Given the description of an element on the screen output the (x, y) to click on. 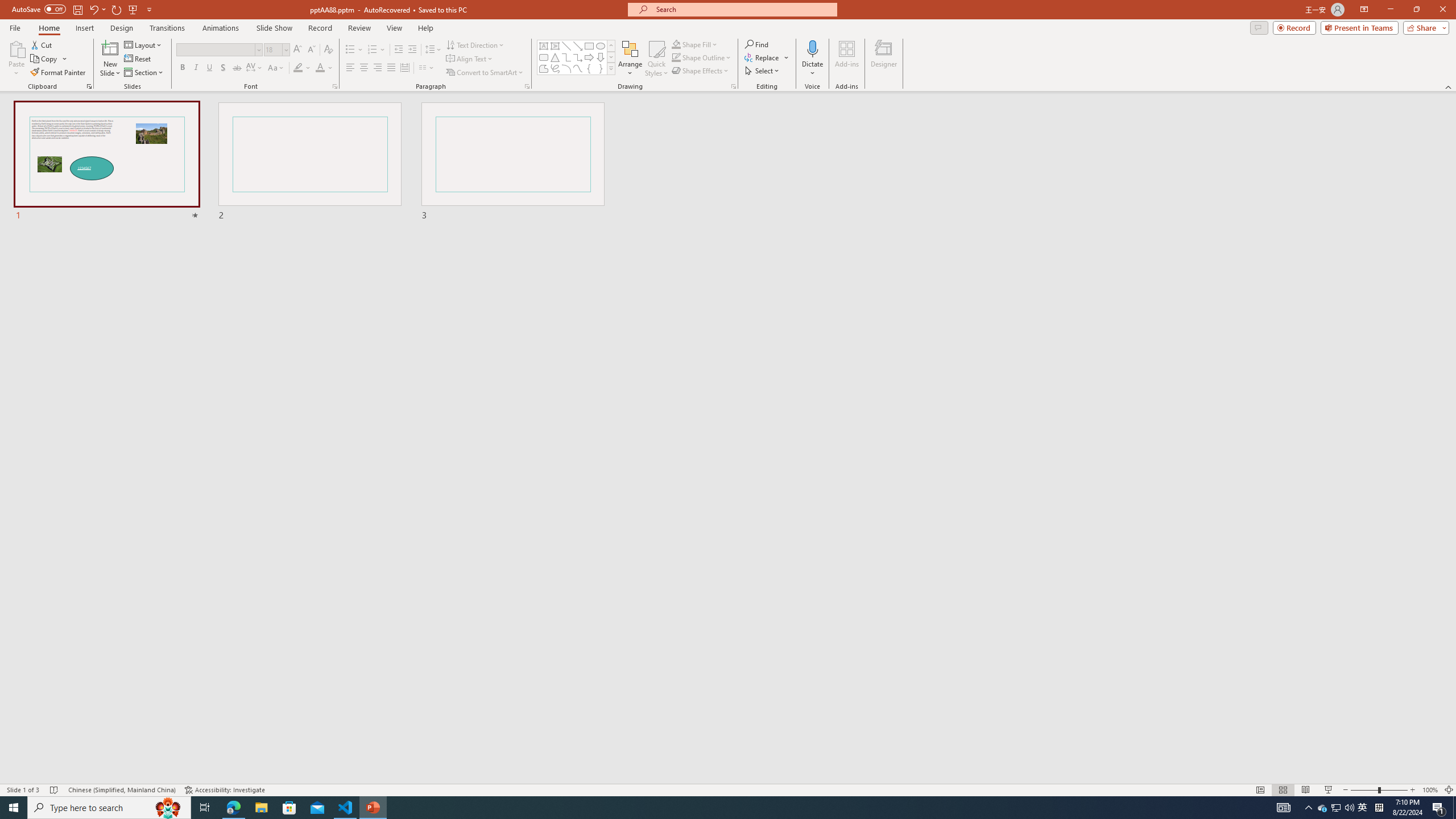
Shape Fill Aqua, Accent 2 (675, 44)
